Given the description of an element on the screen output the (x, y) to click on. 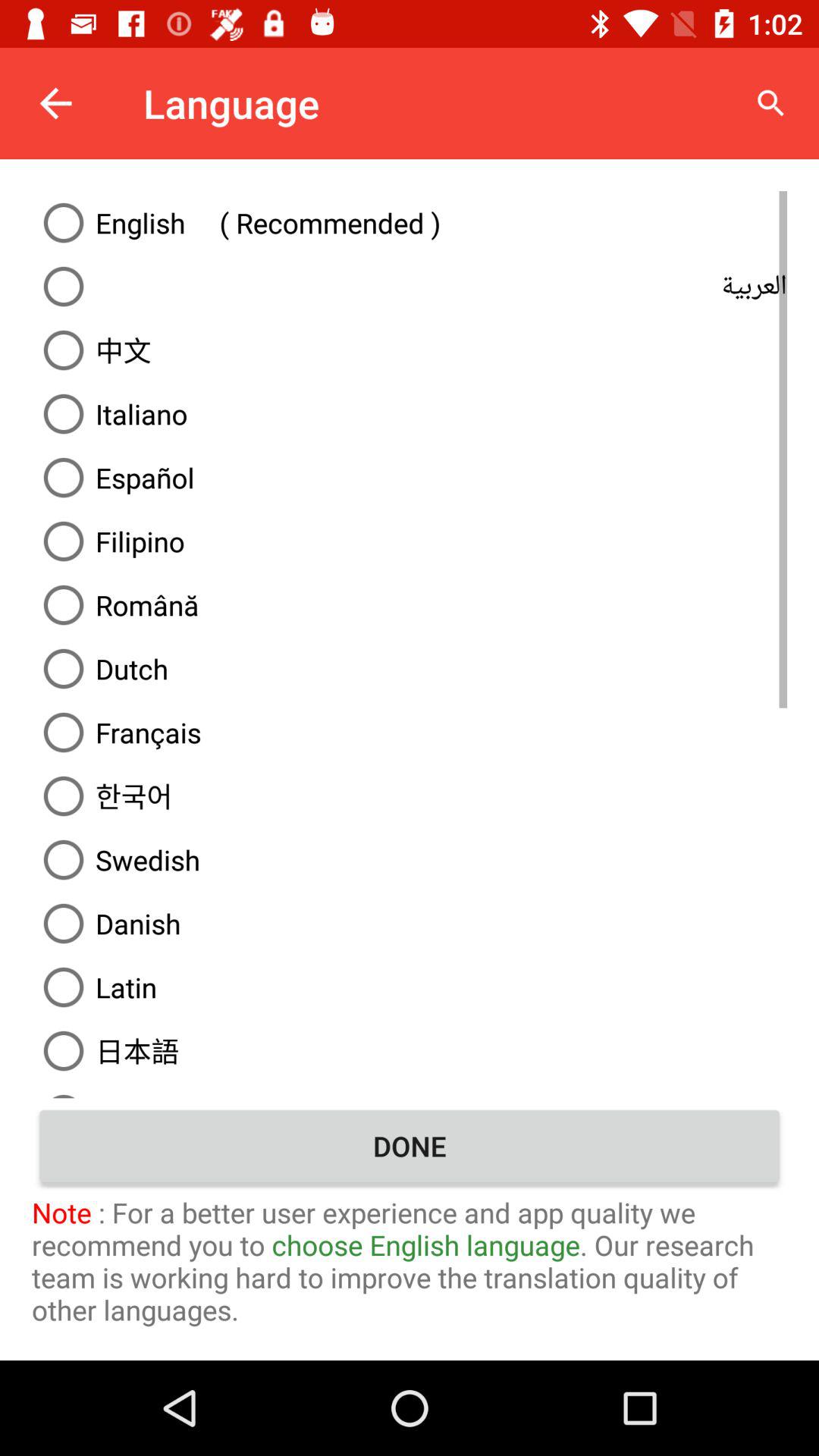
select filipino on the page (409, 541)
select the swedish option (409, 860)
select the text which is above the text swedish (409, 796)
select the text which is immediately below danish (409, 987)
click on italiano (409, 413)
select espanol option (409, 477)
click on done (409, 1145)
